Given the description of an element on the screen output the (x, y) to click on. 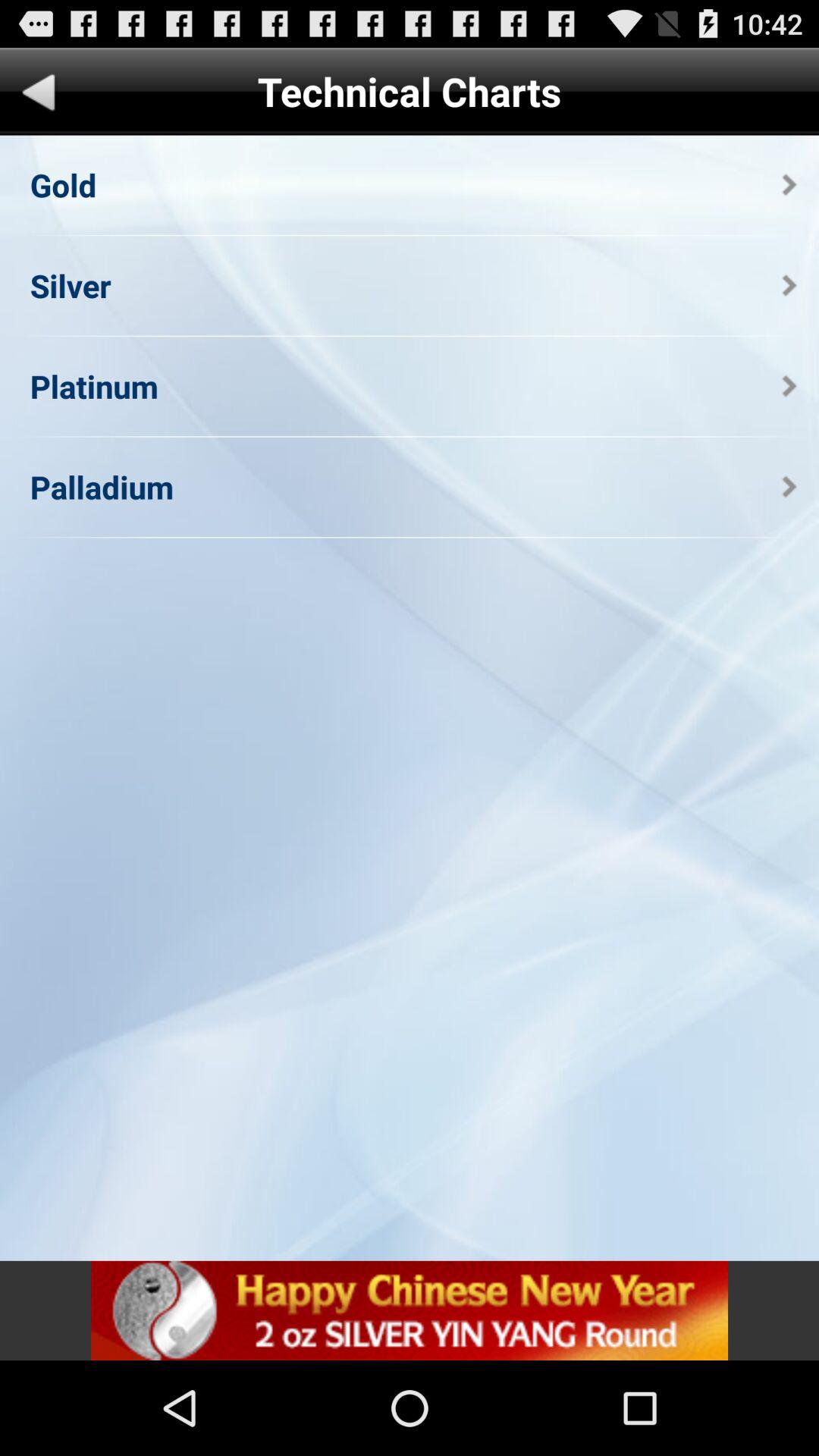
banner advertisement (409, 1310)
